Given the description of an element on the screen output the (x, y) to click on. 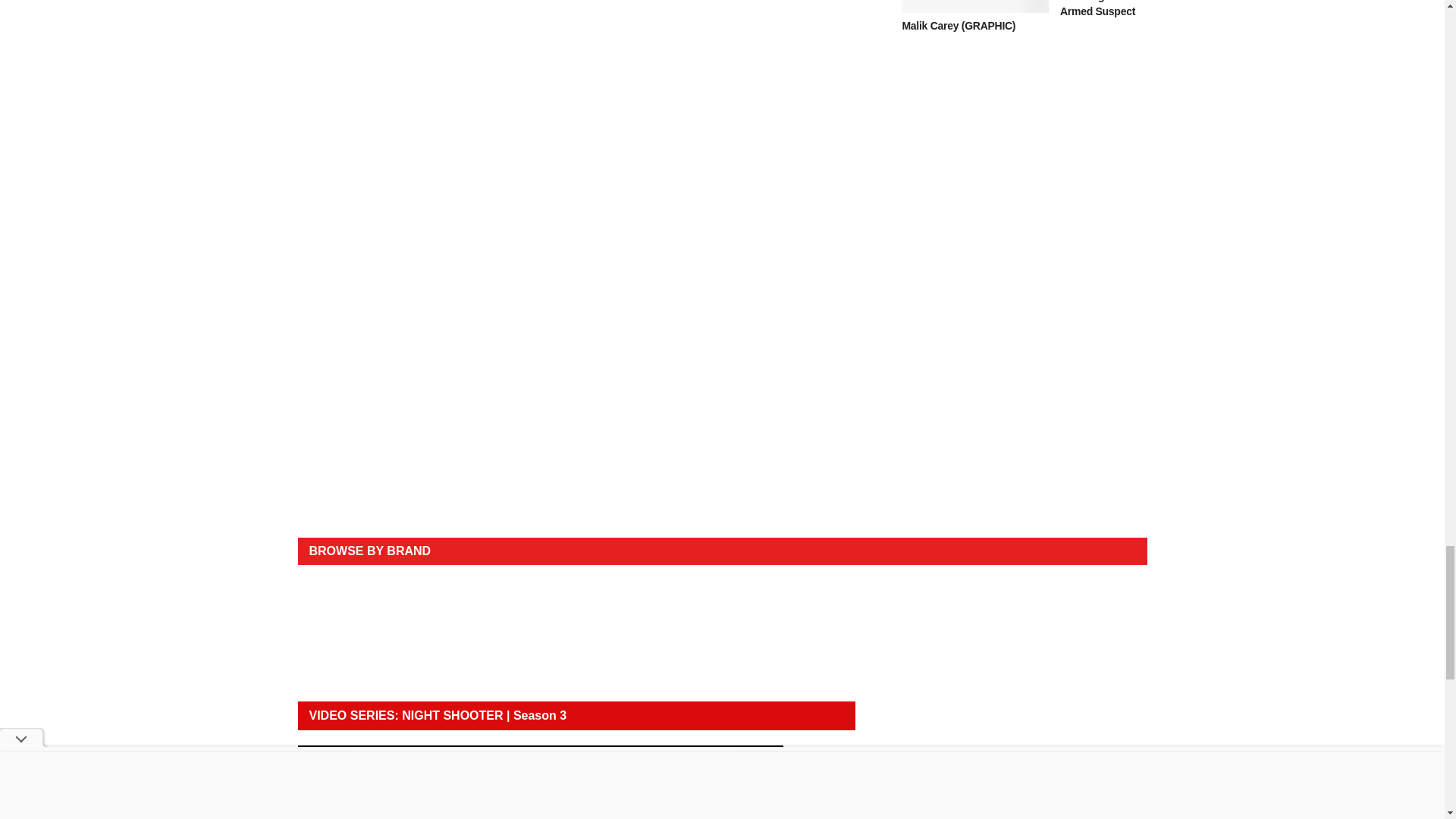
3rd party ad content (1024, 192)
